Given the description of an element on the screen output the (x, y) to click on. 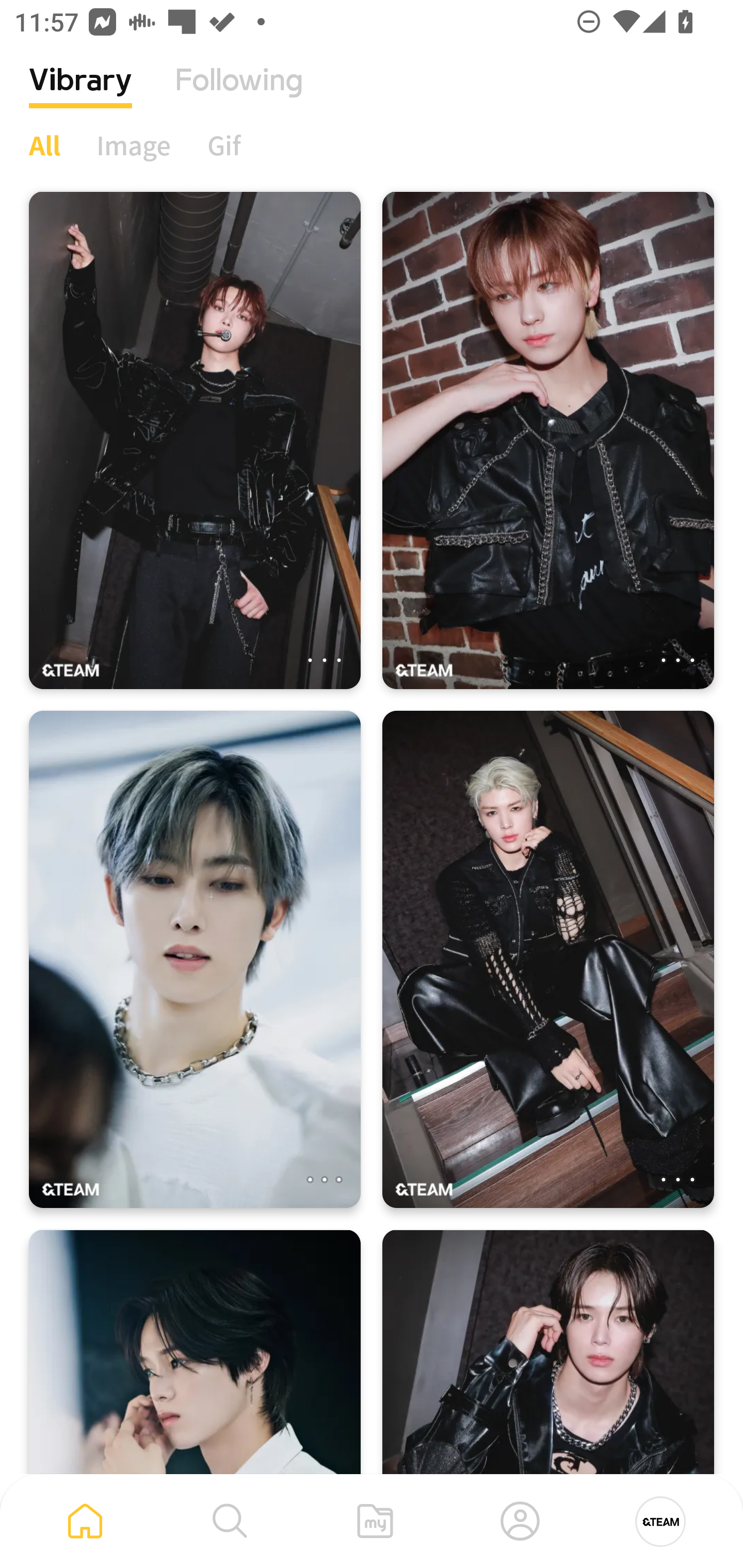
Vibrary (80, 95)
Following (239, 95)
All (44, 145)
Image (133, 145)
Gif (223, 145)
